Given the description of an element on the screen output the (x, y) to click on. 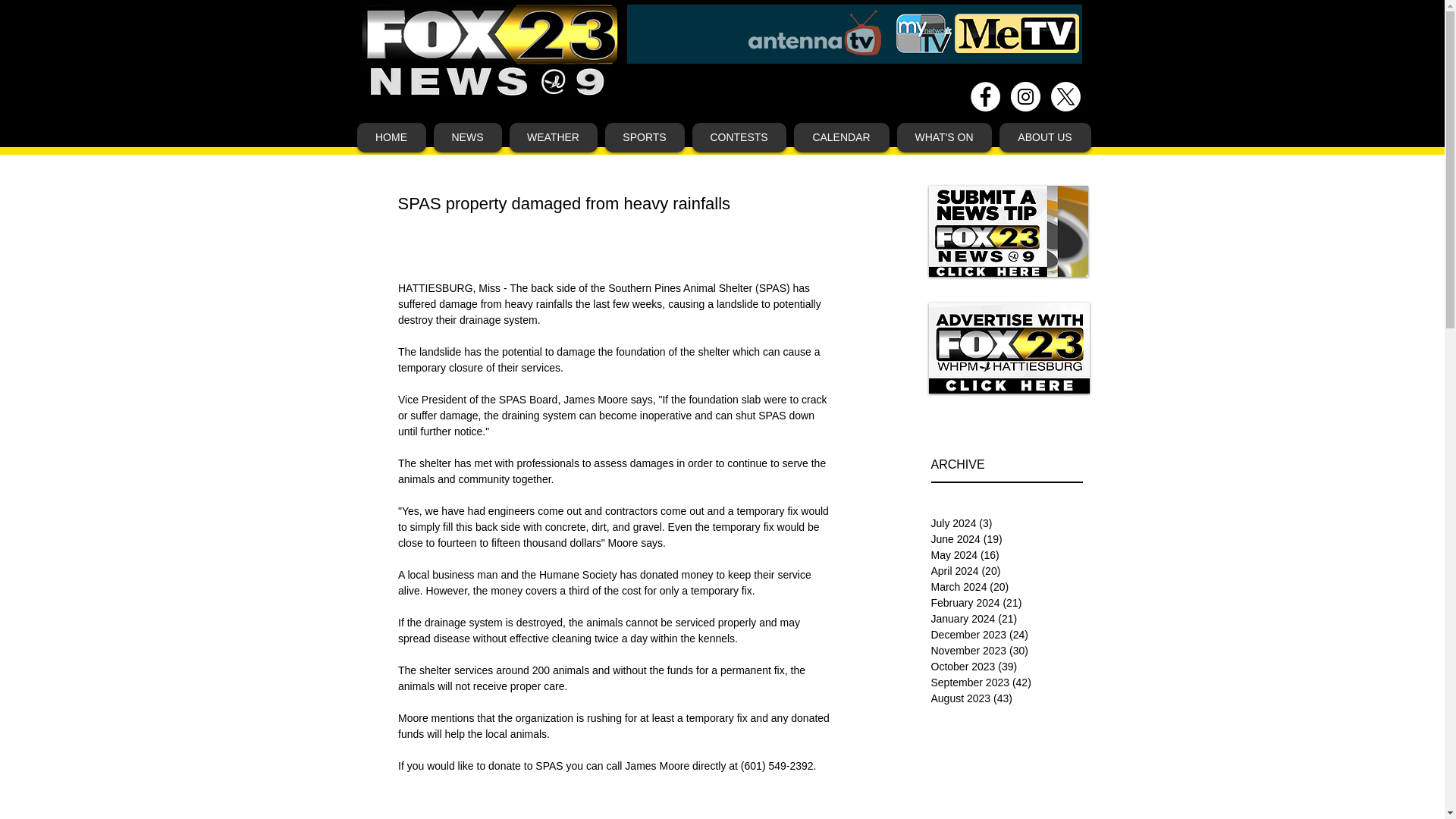
CALENDAR (840, 137)
WEATHER (552, 137)
HOME (390, 137)
